Given the description of an element on the screen output the (x, y) to click on. 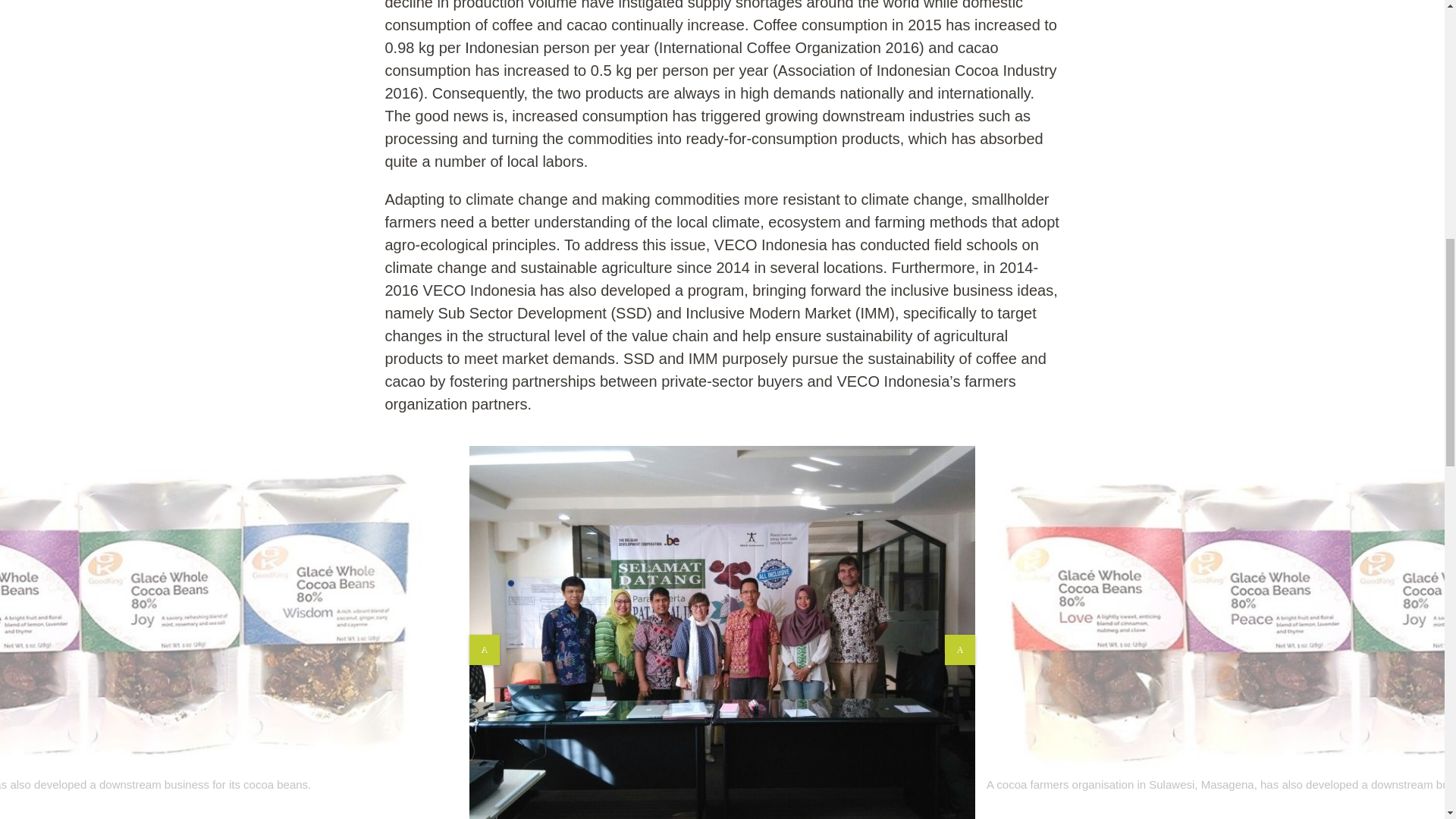
Previous (483, 649)
Next (959, 649)
Previous (483, 649)
Next (959, 649)
